Given the description of an element on the screen output the (x, y) to click on. 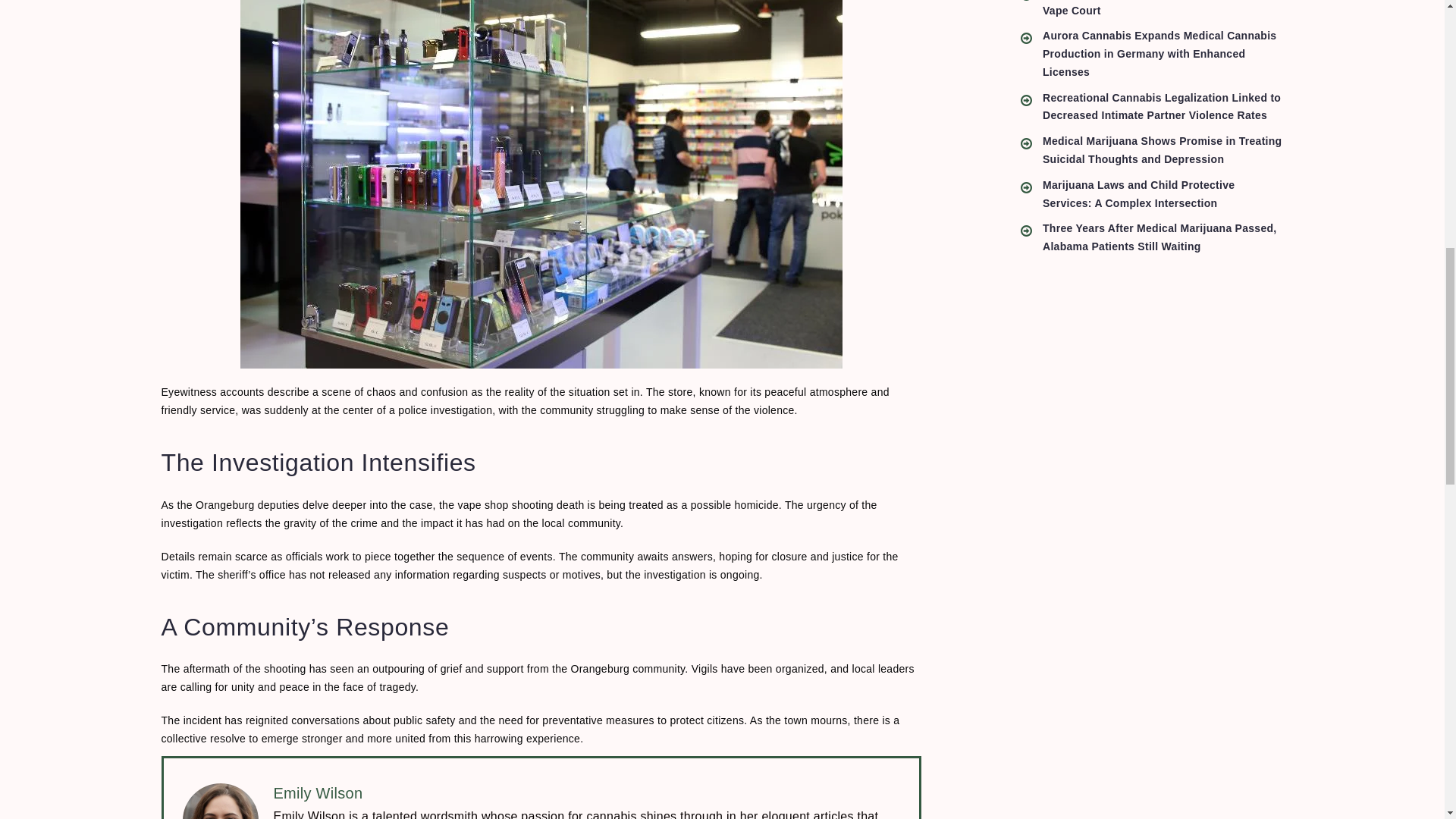
Emily Wilson (317, 792)
